Given the description of an element on the screen output the (x, y) to click on. 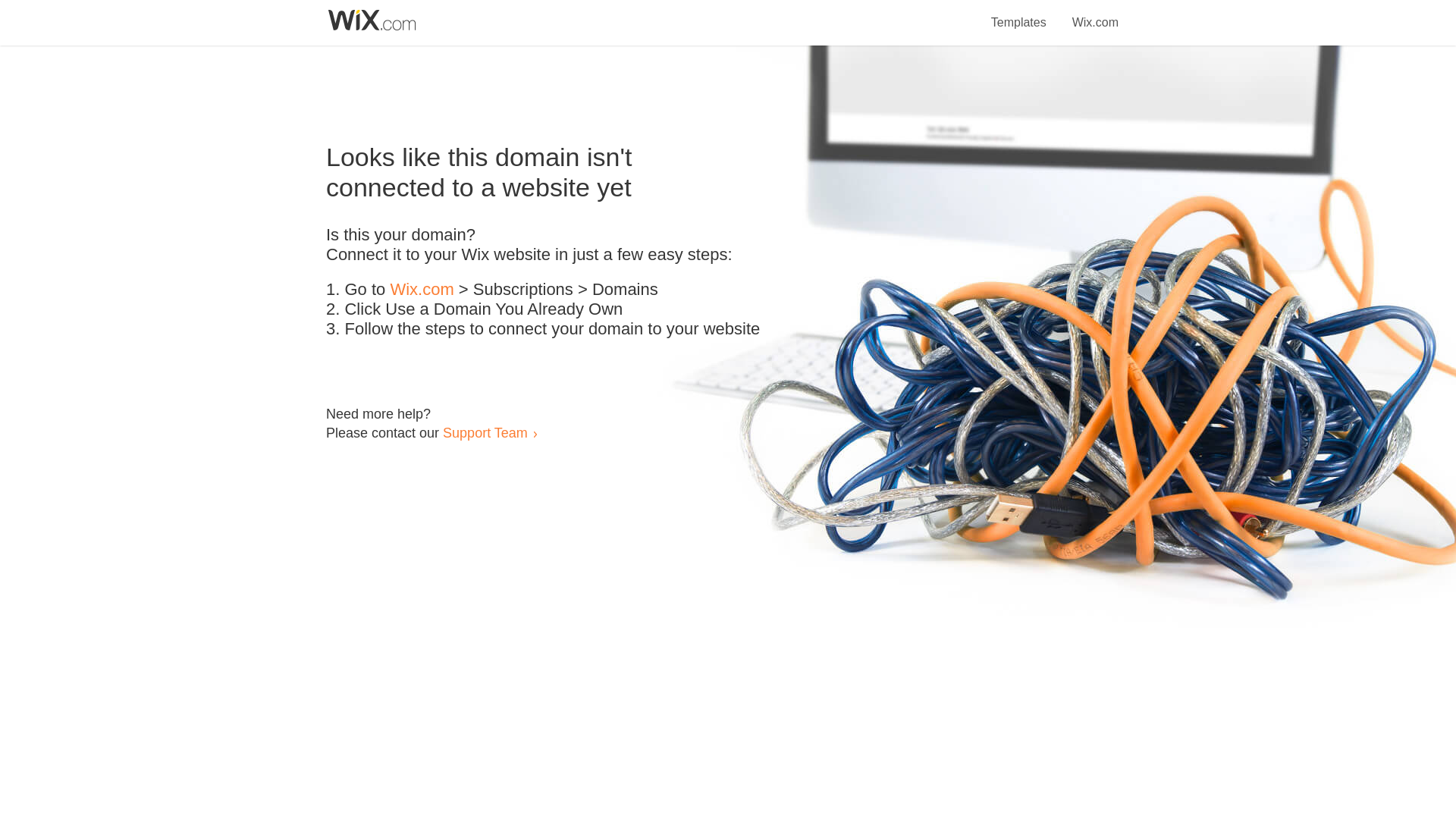
Wix.com (421, 289)
Wix.com (1095, 14)
Support Team (484, 432)
Templates (1018, 14)
